Given the description of an element on the screen output the (x, y) to click on. 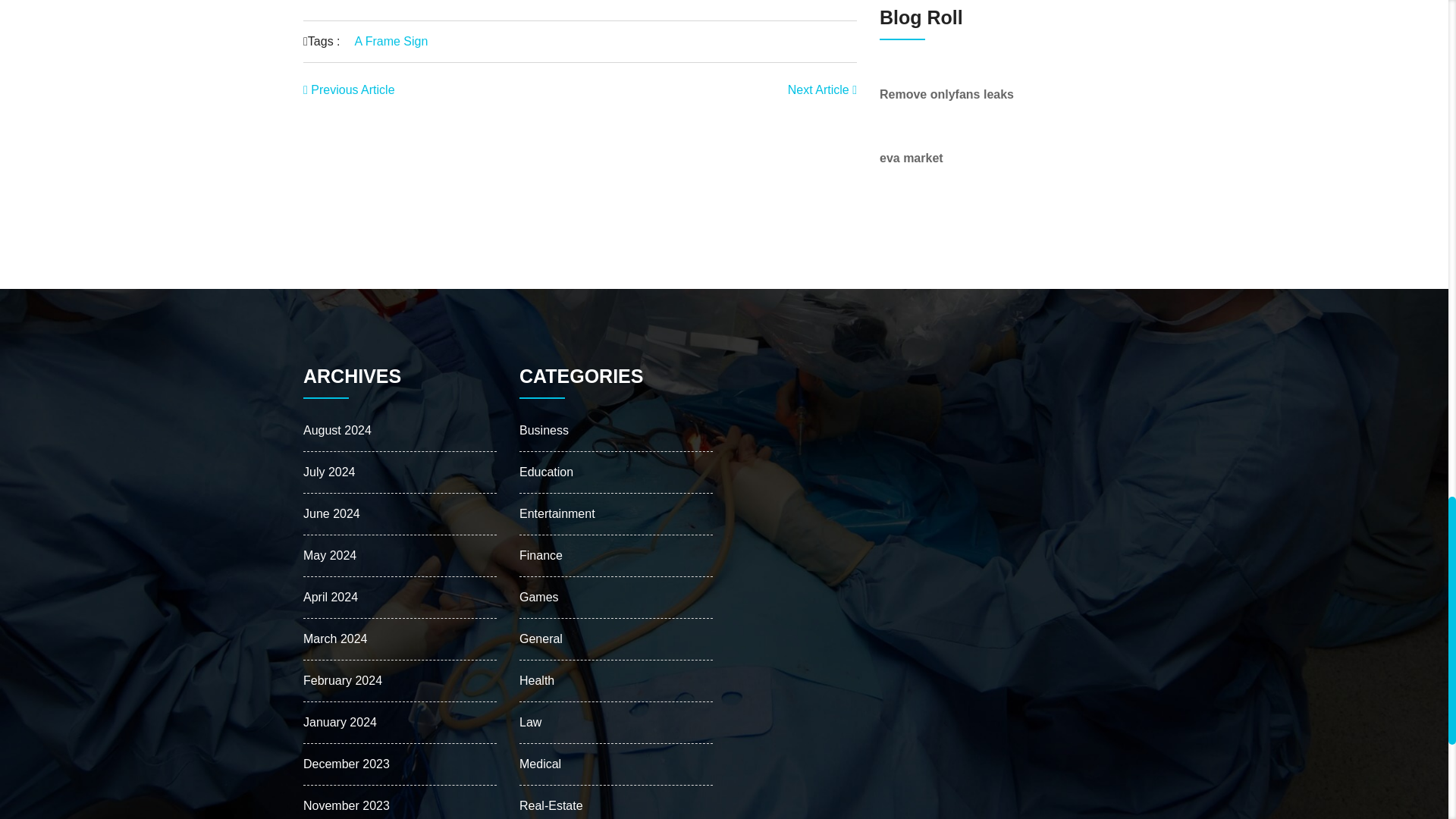
eva market (911, 157)
August 2024 (336, 430)
Next Article (822, 89)
Previous Article (348, 89)
Remove onlyfans leaks (946, 93)
A Frame Sign (390, 41)
July 2024 (328, 472)
June 2024 (330, 513)
